Given the description of an element on the screen output the (x, y) to click on. 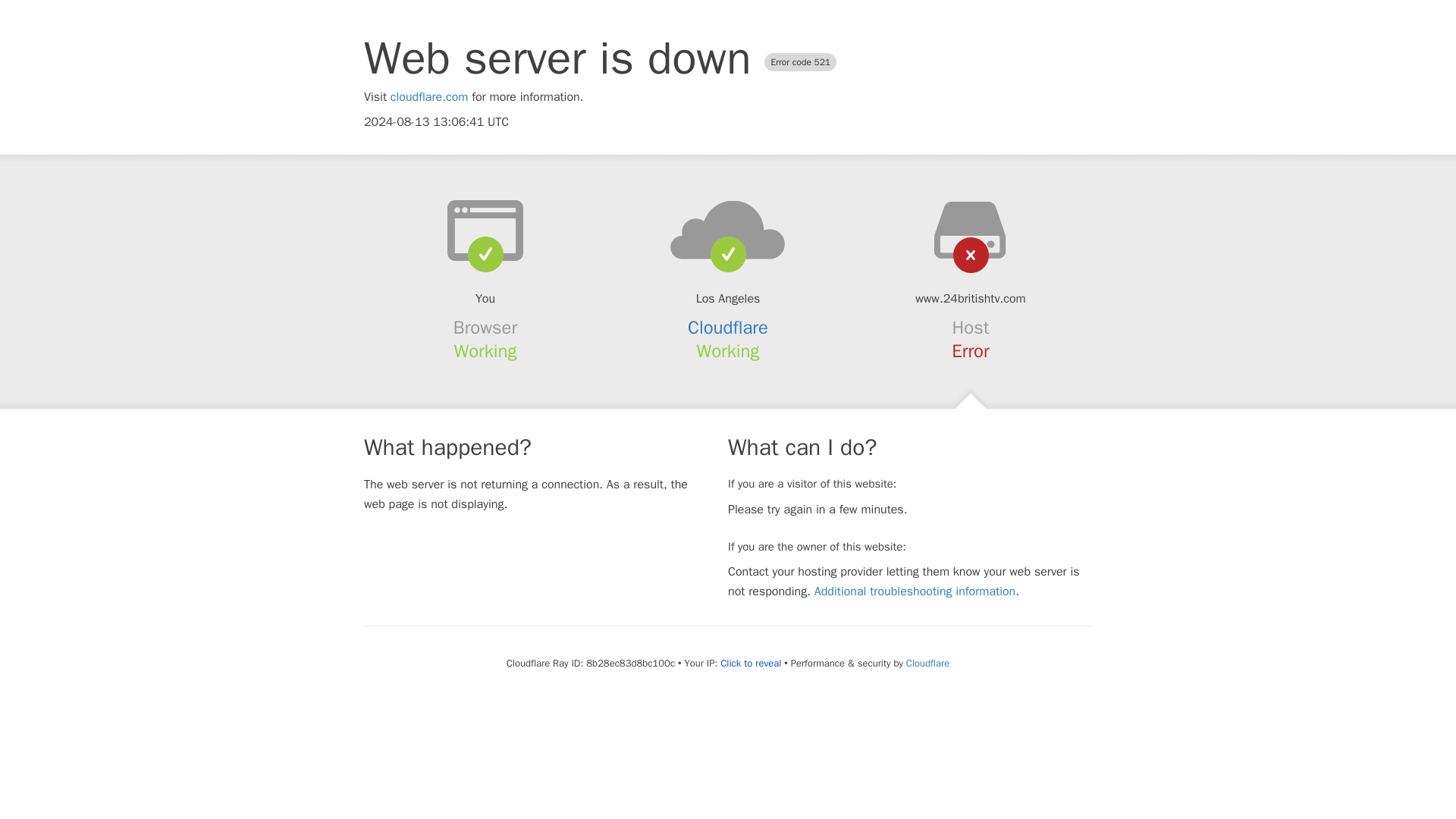
Cloudflare (727, 327)
Additional troubleshooting information (913, 590)
Click to reveal (750, 663)
Cloudflare (927, 662)
cloudflare.com (429, 96)
